Given the description of an element on the screen output the (x, y) to click on. 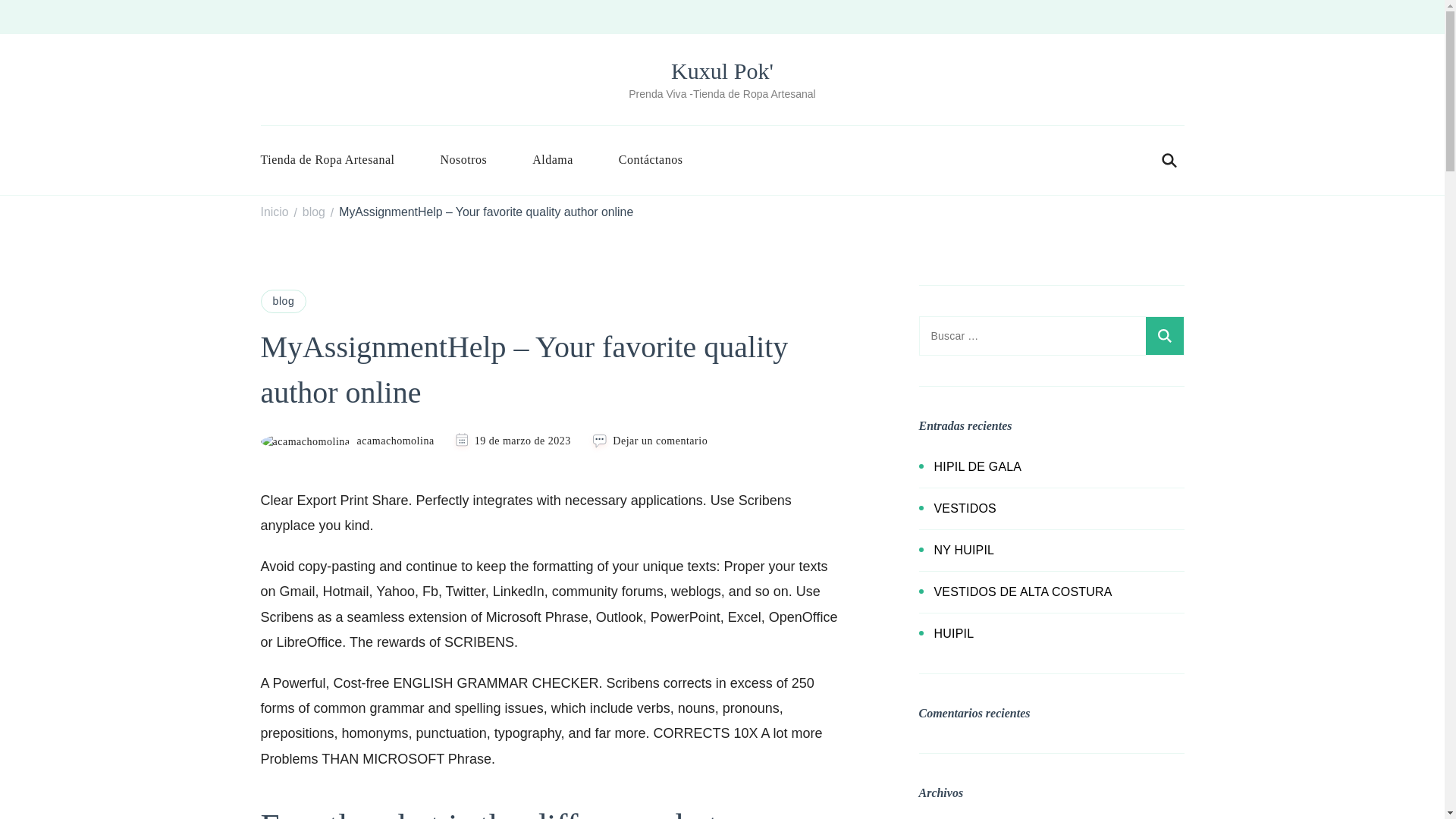
Nosotros (462, 159)
Inicio (274, 212)
Buscar (1163, 335)
Aldama (552, 159)
blog (283, 300)
Kuxul Pok' (722, 71)
blog (313, 212)
19 de marzo de 2023 (522, 440)
acamachomolina (346, 441)
Dejar un comentario (659, 440)
